Given the description of an element on the screen output the (x, y) to click on. 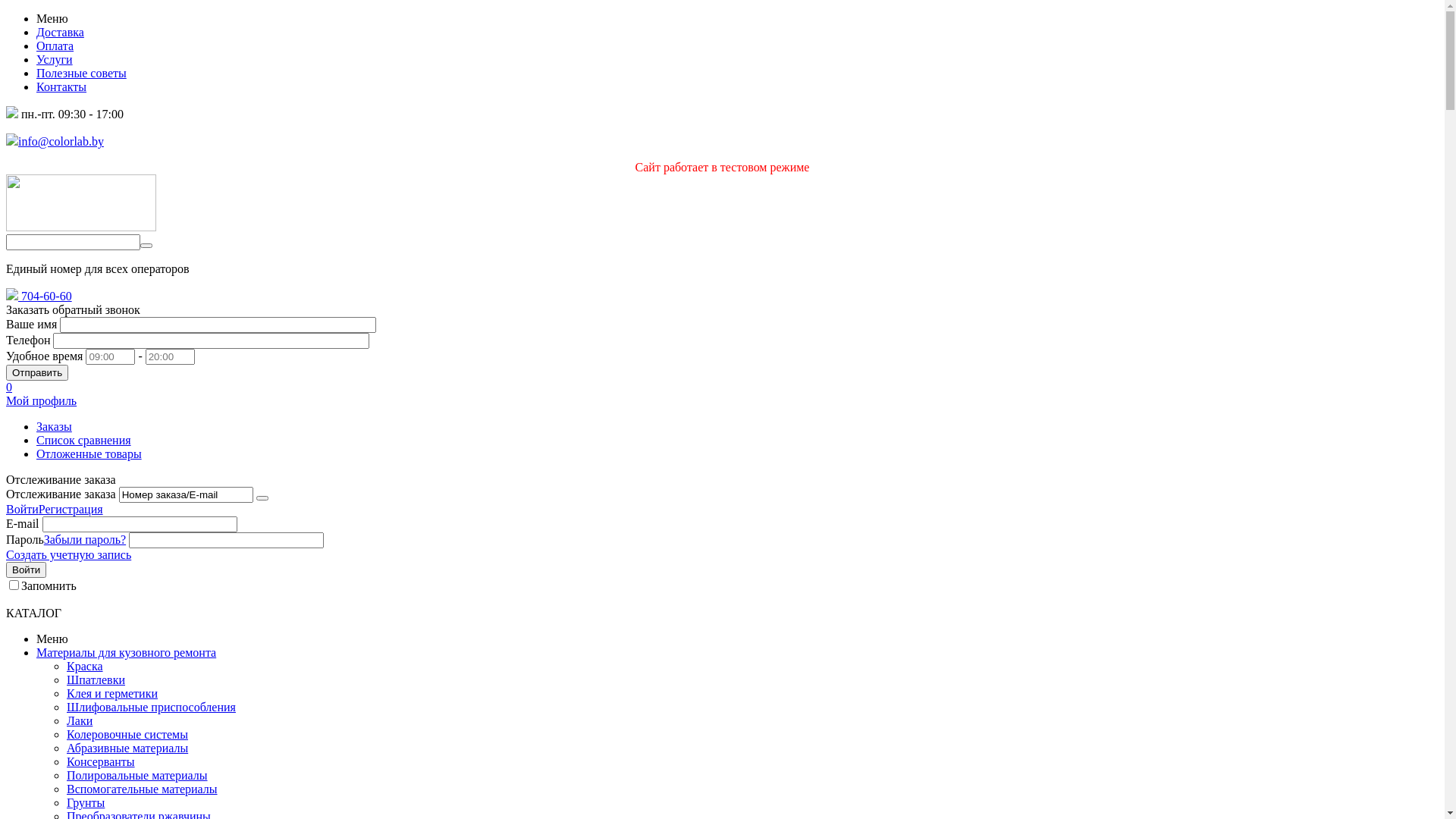
704-60-60 Element type: text (39, 295)
0 Element type: text (722, 387)
info@colorlab.by Element type: text (54, 140)
